Given the description of an element on the screen output the (x, y) to click on. 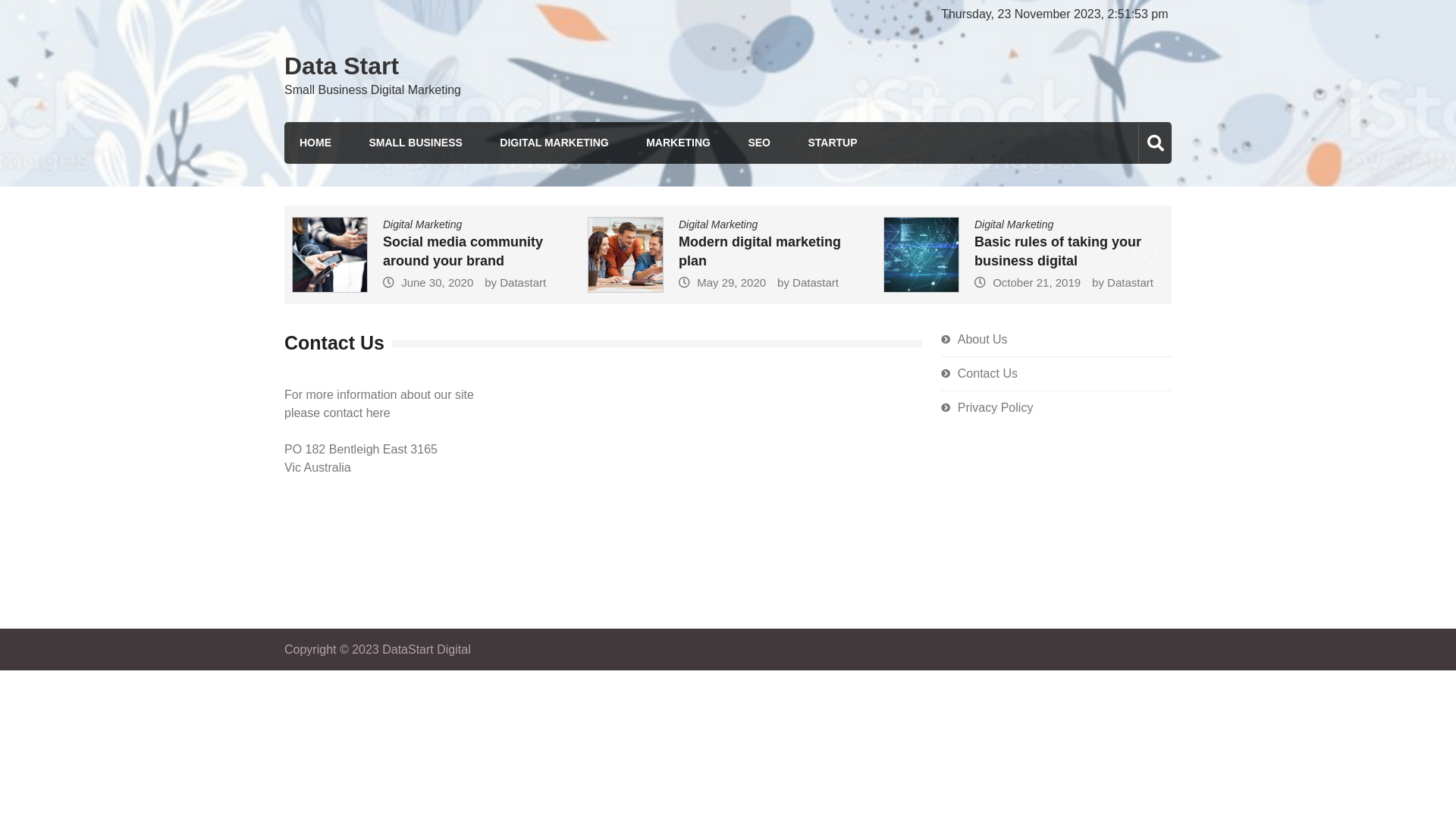
Search Element type: text (1125, 208)
Contact Us Element type: text (987, 373)
HOME Element type: text (315, 142)
SEO Element type: text (433, 224)
Social media community around your brand Element type: text (604, 251)
Digital Marketing Element type: text (578, 224)
About Us Element type: text (982, 338)
Privacy Policy Element type: text (995, 407)
June 30, 2020 Element type: text (334, 282)
May 29, 2020 Element type: text (789, 282)
Digital Marketing Element type: text (804, 224)
Data Start Element type: text (341, 65)
SEO Element type: text (758, 142)
Digital Marketing Element type: text (388, 224)
Modern digital marketing plan Element type: text (836, 251)
MARKETING Element type: text (678, 142)
Datastart Element type: text (866, 282)
Datastart Element type: text (402, 282)
Digital Marketing Element type: text (1057, 224)
Improving Your Online Marketing Campaign Element type: text (390, 251)
Datastart Element type: text (621, 282)
October 21, 2019 Element type: text (1058, 282)
DIGITAL MARKETING Element type: text (553, 142)
Datastart Element type: text (1152, 282)
June 30, 2020 Element type: text (548, 282)
Basic rules of taking your business digital Element type: text (1094, 251)
SMALL BUSINESS Element type: text (414, 142)
STARTUP Element type: text (831, 142)
